Given the description of an element on the screen output the (x, y) to click on. 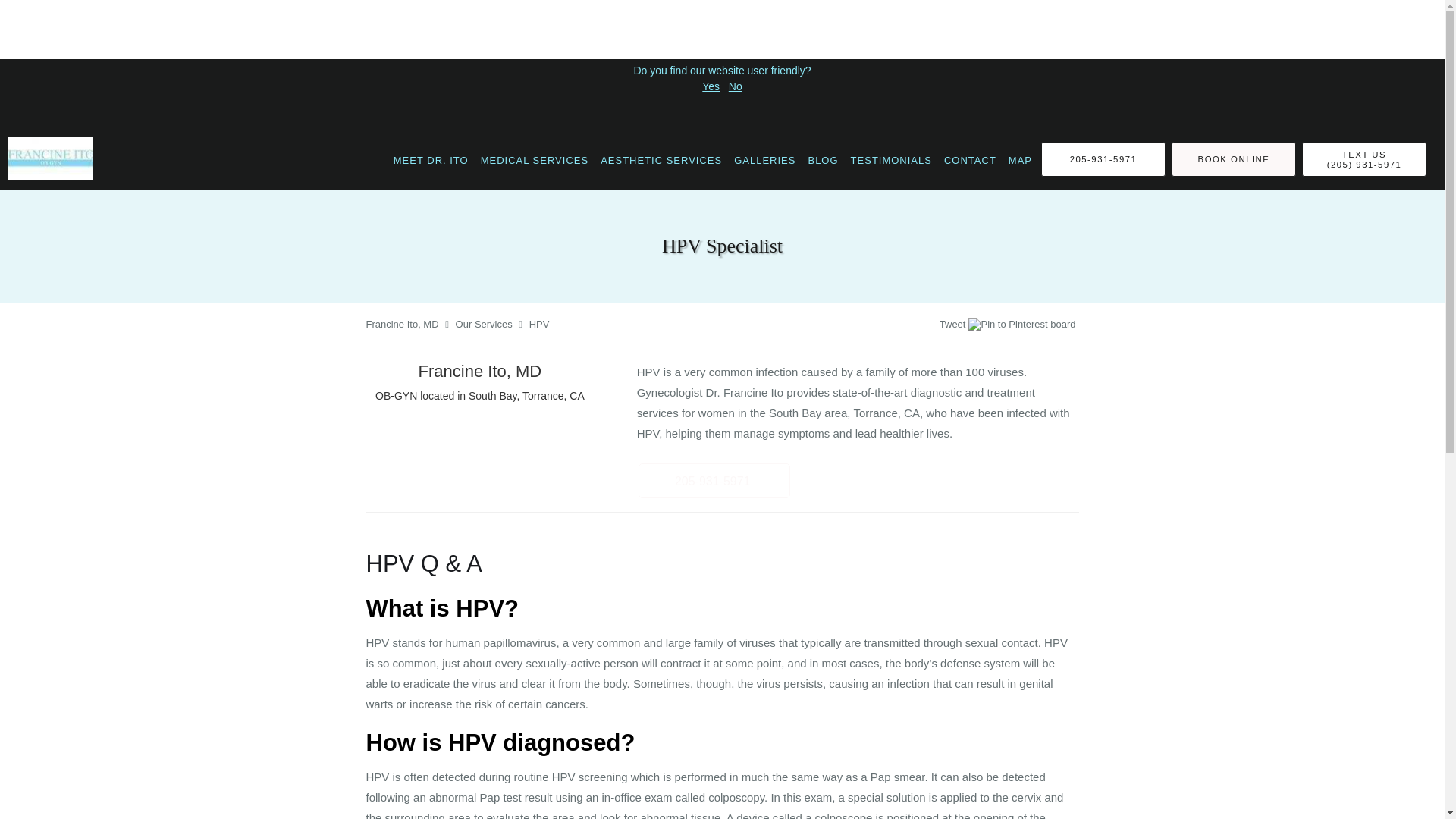
AESTHETIC SERVICES (661, 159)
MEDICAL SERVICES (534, 159)
TESTIMONIALS (890, 159)
Yes (710, 86)
205-931-5971 (1103, 158)
Facebook social button (880, 326)
No (735, 86)
GALLERIES (765, 159)
MEET DR. ITO (430, 159)
BOOK ONLINE (1233, 158)
CONTACT (970, 159)
Skip to main content (74, 136)
